Given the description of an element on the screen output the (x, y) to click on. 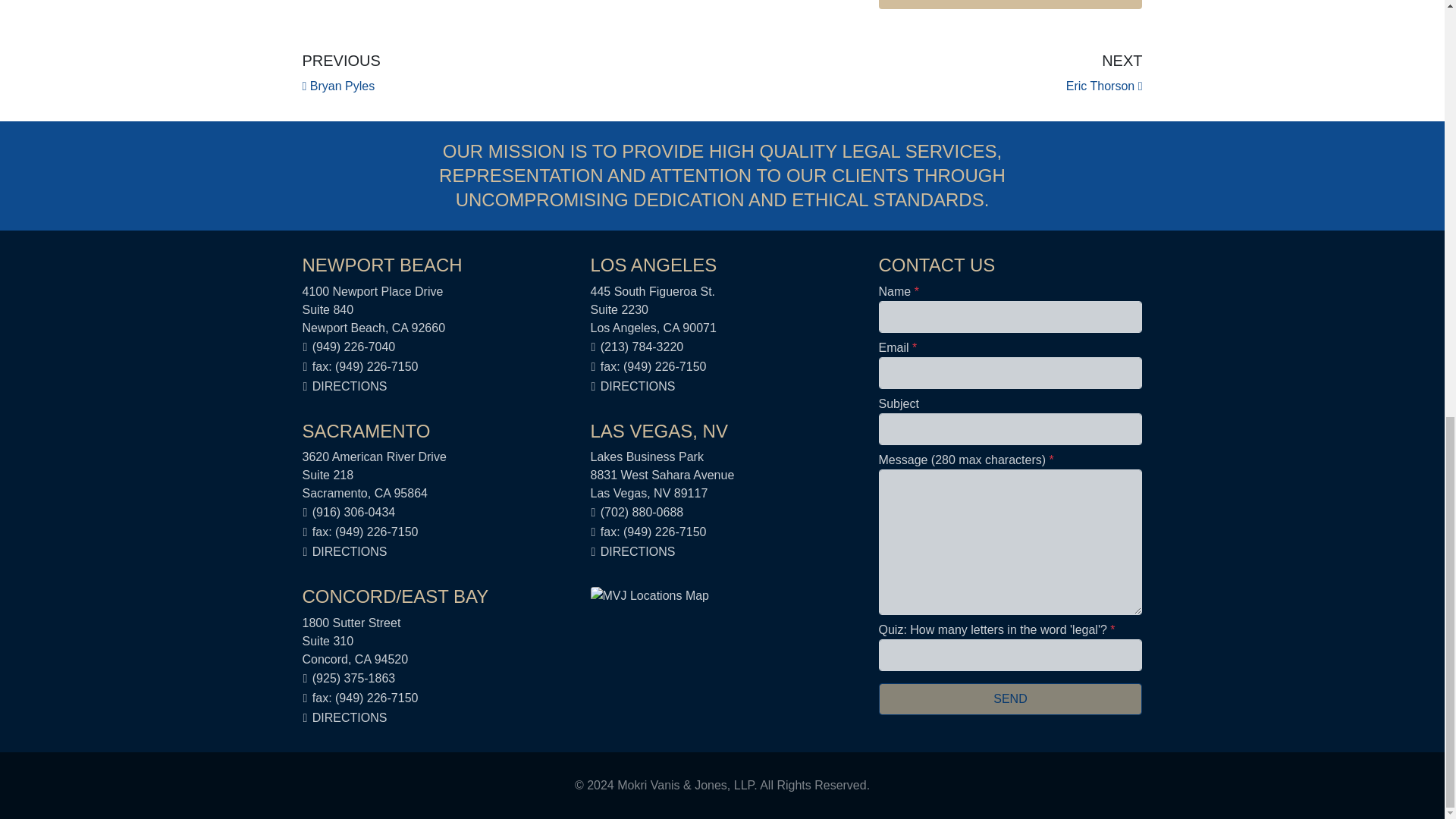
DIRECTIONS (350, 386)
SEND (1009, 698)
DIRECTIONS (1103, 71)
DIRECTIONS (637, 551)
DIRECTIONS (637, 386)
DIRECTIONS (340, 71)
SEND (350, 551)
